Given the description of an element on the screen output the (x, y) to click on. 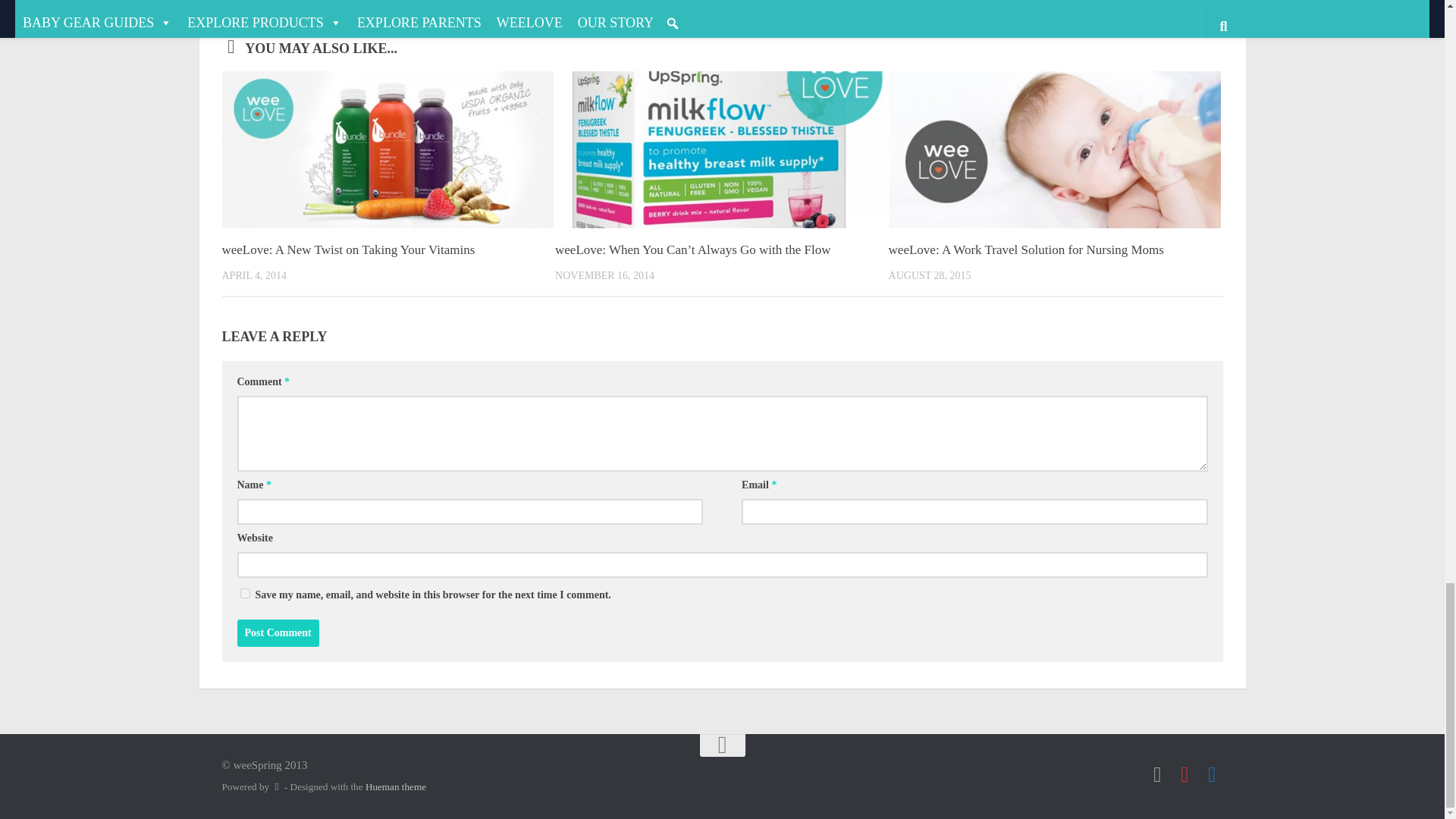
Follow us on Instagram (1157, 774)
Follow us on Pinterest (1184, 774)
Hueman theme (395, 786)
yes (244, 593)
Powered by WordPress (275, 786)
Follow us on Facebook-square (1212, 774)
Post Comment (276, 633)
